Given the description of an element on the screen output the (x, y) to click on. 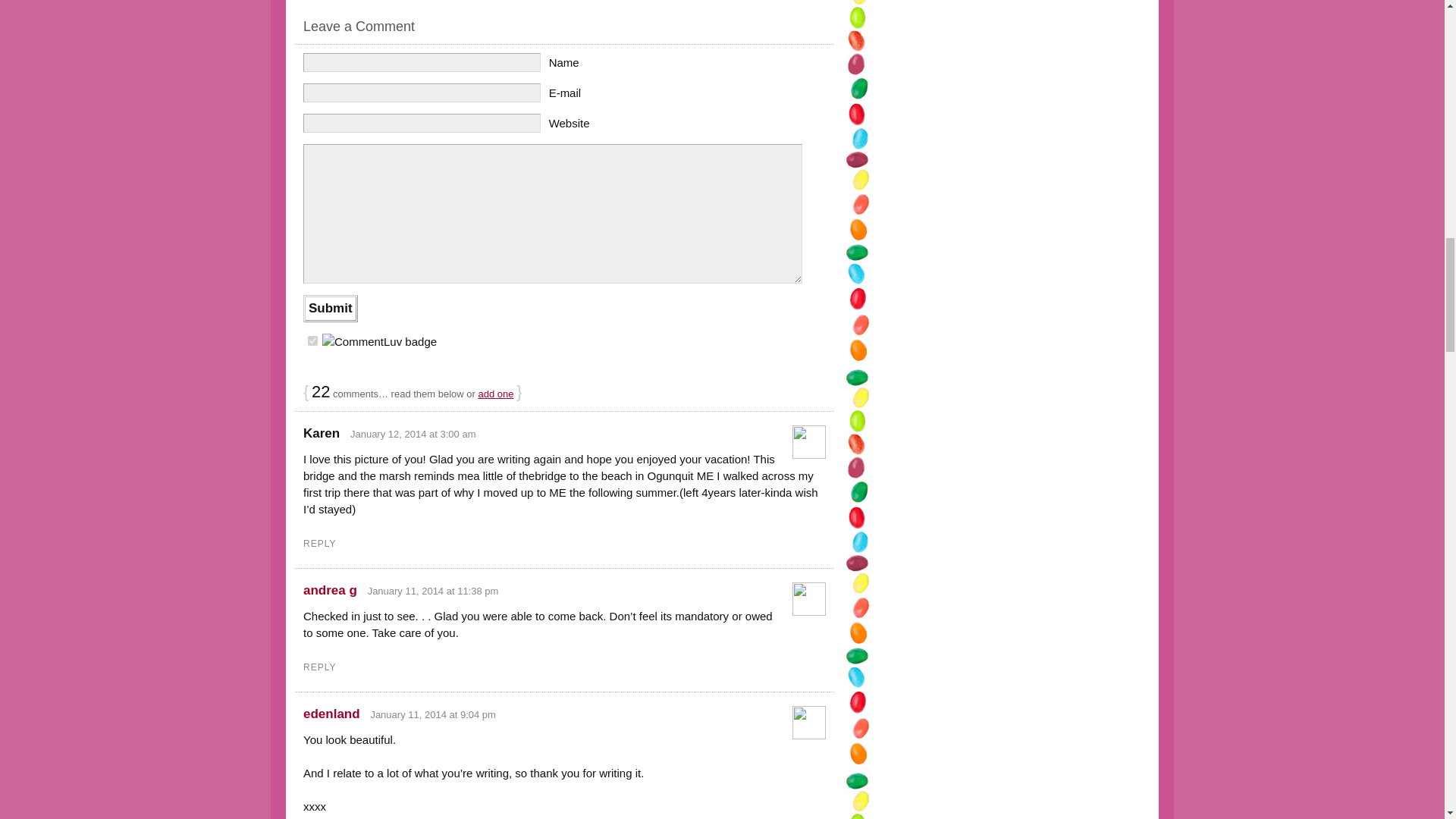
Submit (330, 308)
Permalink to this comment (413, 433)
on (311, 340)
January 12, 2014 at 3:00 am (413, 433)
andrea g (329, 590)
January 11, 2014 at 9:04 pm (432, 714)
REPLY (319, 543)
January 11, 2014 at 11:38 pm (433, 591)
Permalink to this comment (433, 591)
add one (496, 393)
